Given the description of an element on the screen output the (x, y) to click on. 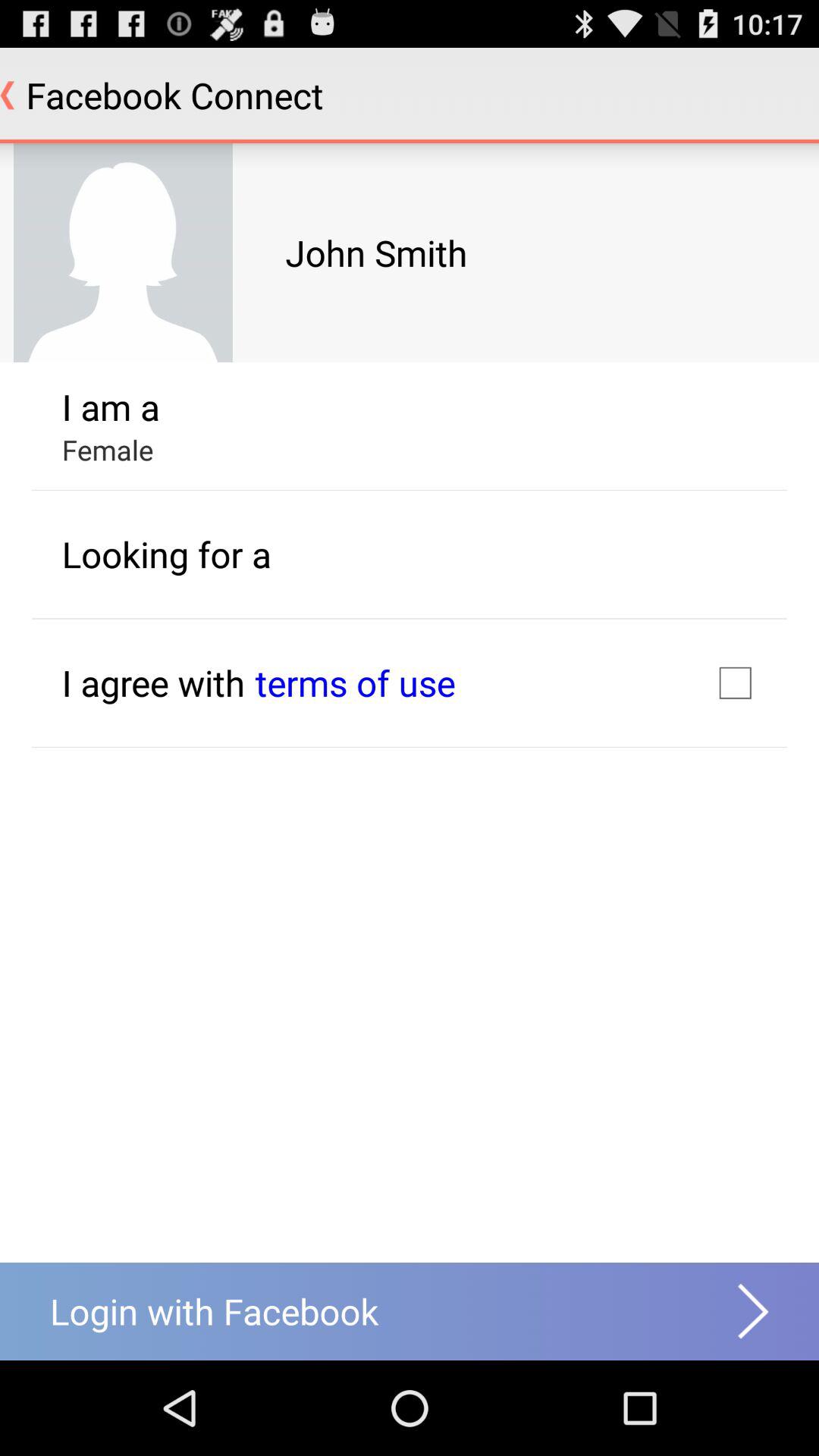
turn on the app at the center (355, 682)
